Given the description of an element on the screen output the (x, y) to click on. 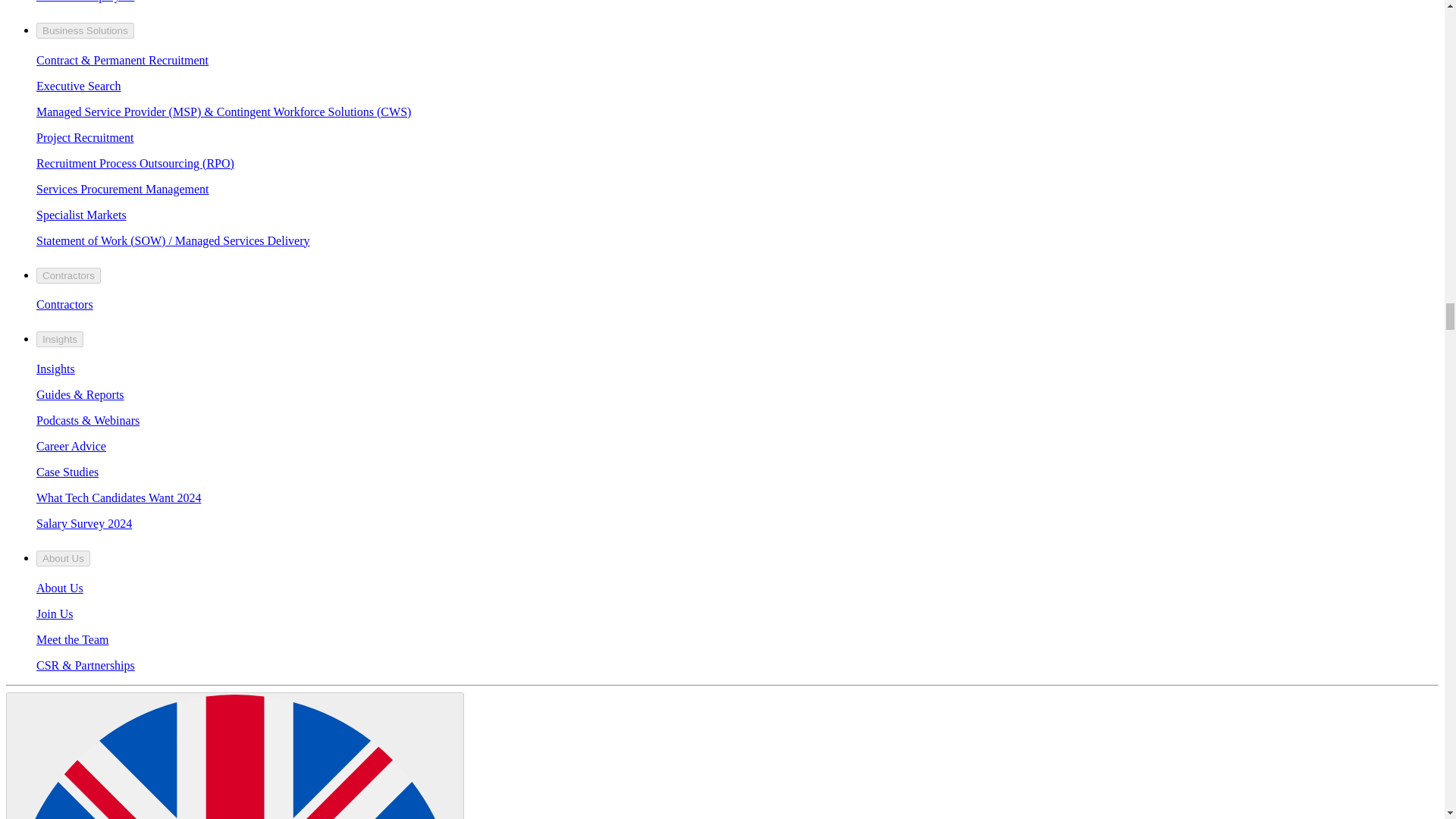
Featured Employers (84, 1)
Contractors (64, 304)
Career Advice (71, 445)
Business Solutions (84, 30)
About Us (63, 558)
Case Studies (67, 472)
Salary Survey 2024 (84, 522)
Insights (59, 339)
Insights (55, 368)
What Tech Candidates Want 2024 (118, 497)
